Given the description of an element on the screen output the (x, y) to click on. 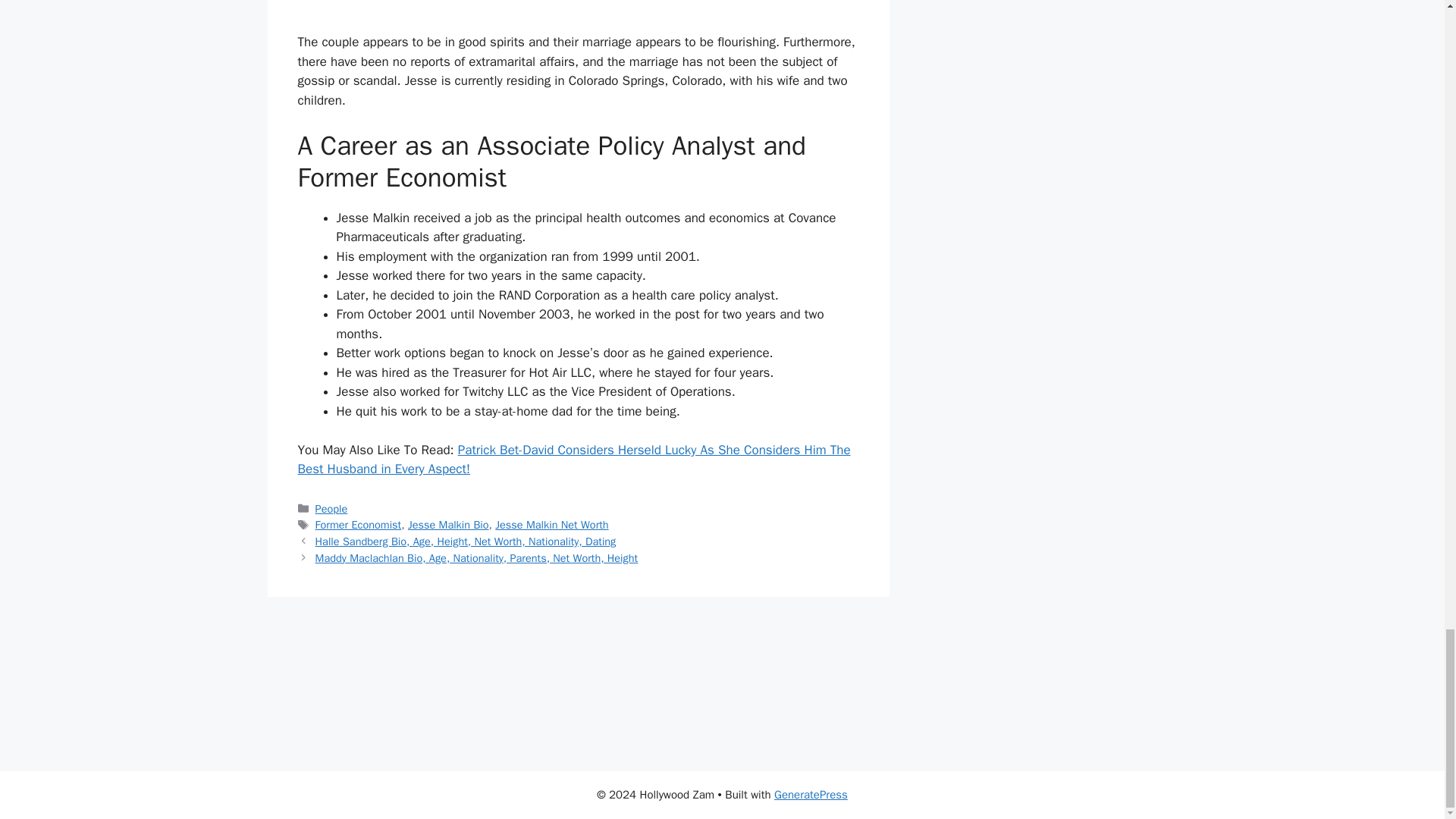
Jesse Malkin Bio (448, 524)
People (331, 508)
Former Economist (358, 524)
Jesse Malkin Net Worth (551, 524)
GeneratePress (810, 794)
Advertisement (578, 16)
